Given the description of an element on the screen output the (x, y) to click on. 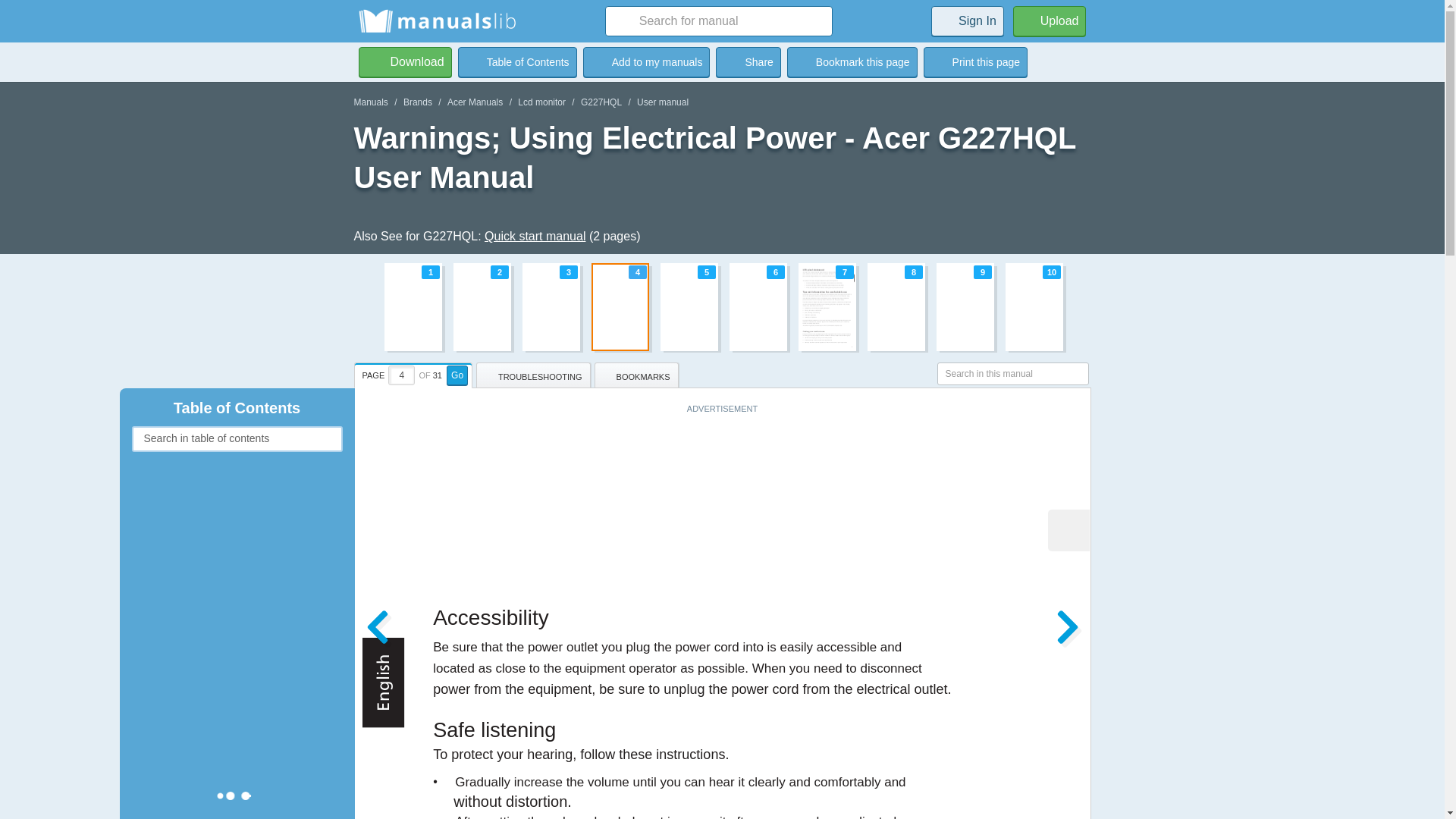
Add to my manuals (646, 61)
Manuals Library (436, 21)
Manuals (370, 102)
Print this page (975, 61)
Download this manual (404, 61)
Bookmark this manual (646, 61)
4 (401, 374)
Upload new manual (1049, 20)
Download (721, 306)
Print this page (404, 61)
Brands (975, 61)
Share (417, 102)
Table of Contents (748, 61)
Quick start manual (517, 61)
